Given the description of an element on the screen output the (x, y) to click on. 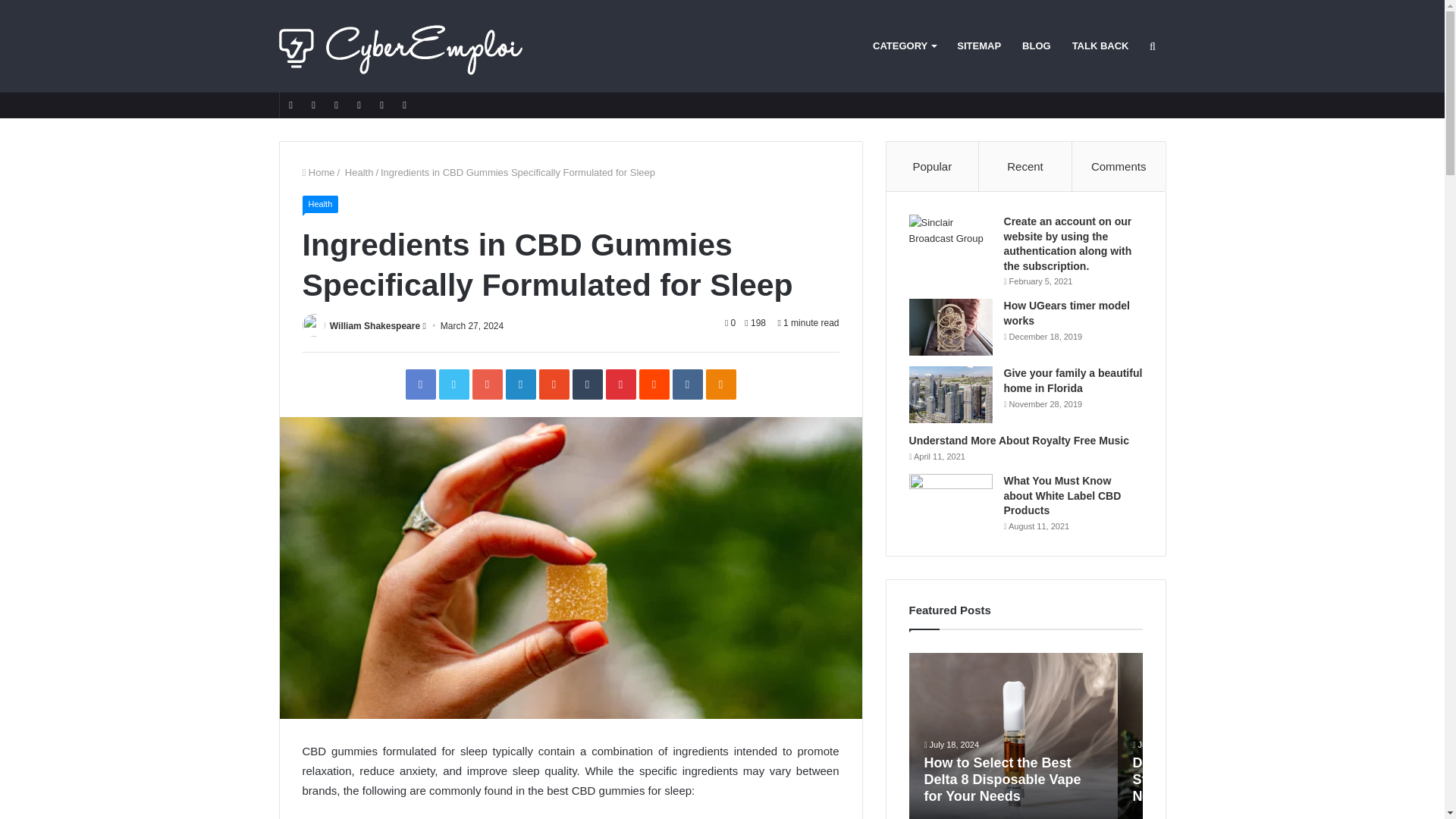
Reddit (653, 384)
LinkedIn (520, 384)
Health (319, 203)
0 (730, 322)
Facebook (419, 384)
Tumblr (587, 384)
Home (317, 172)
Twitter (453, 384)
Odnoklassniki (719, 384)
Health (357, 172)
